Given the description of an element on the screen output the (x, y) to click on. 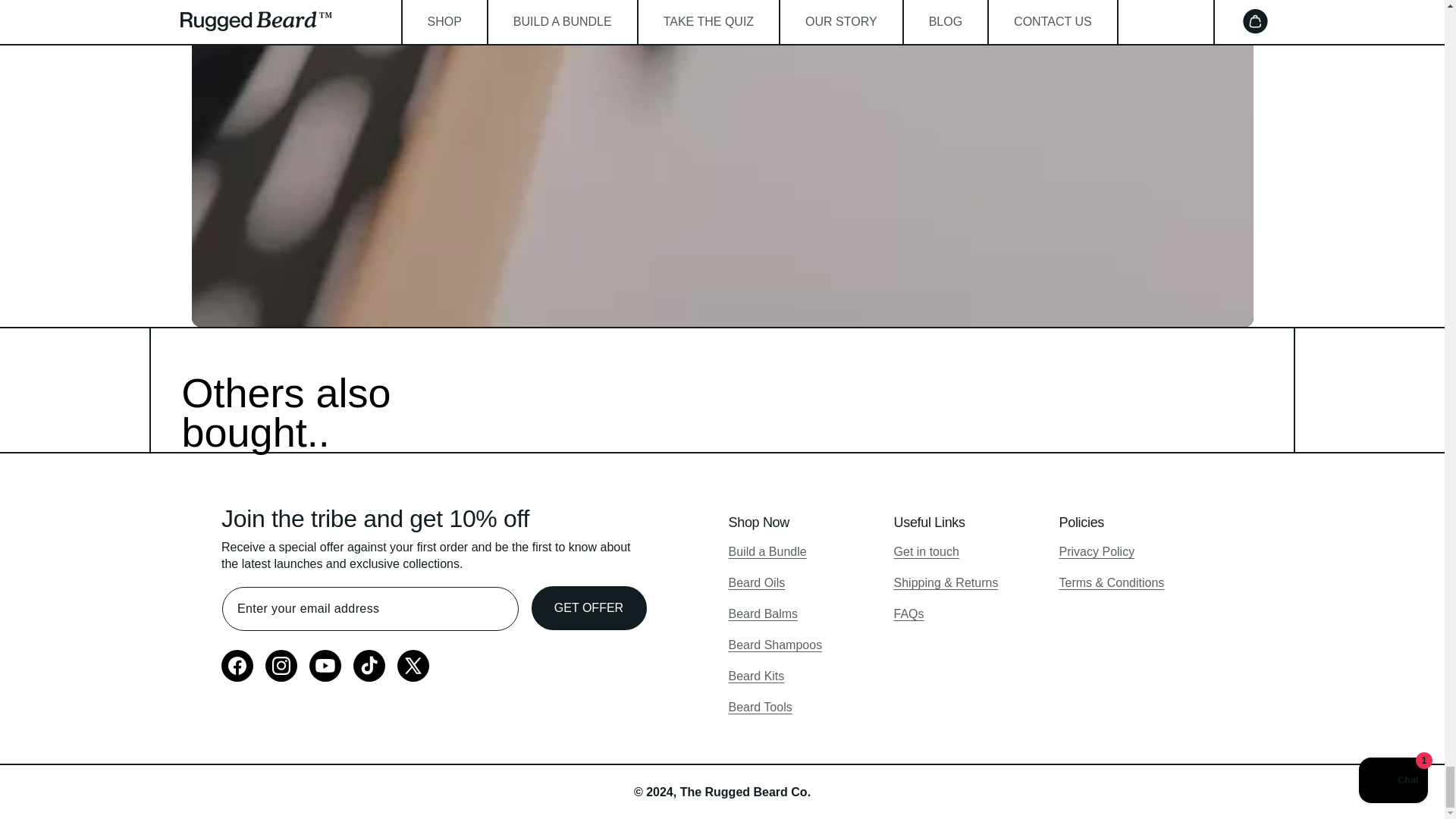
GET OFFER (588, 607)
